Given the description of an element on the screen output the (x, y) to click on. 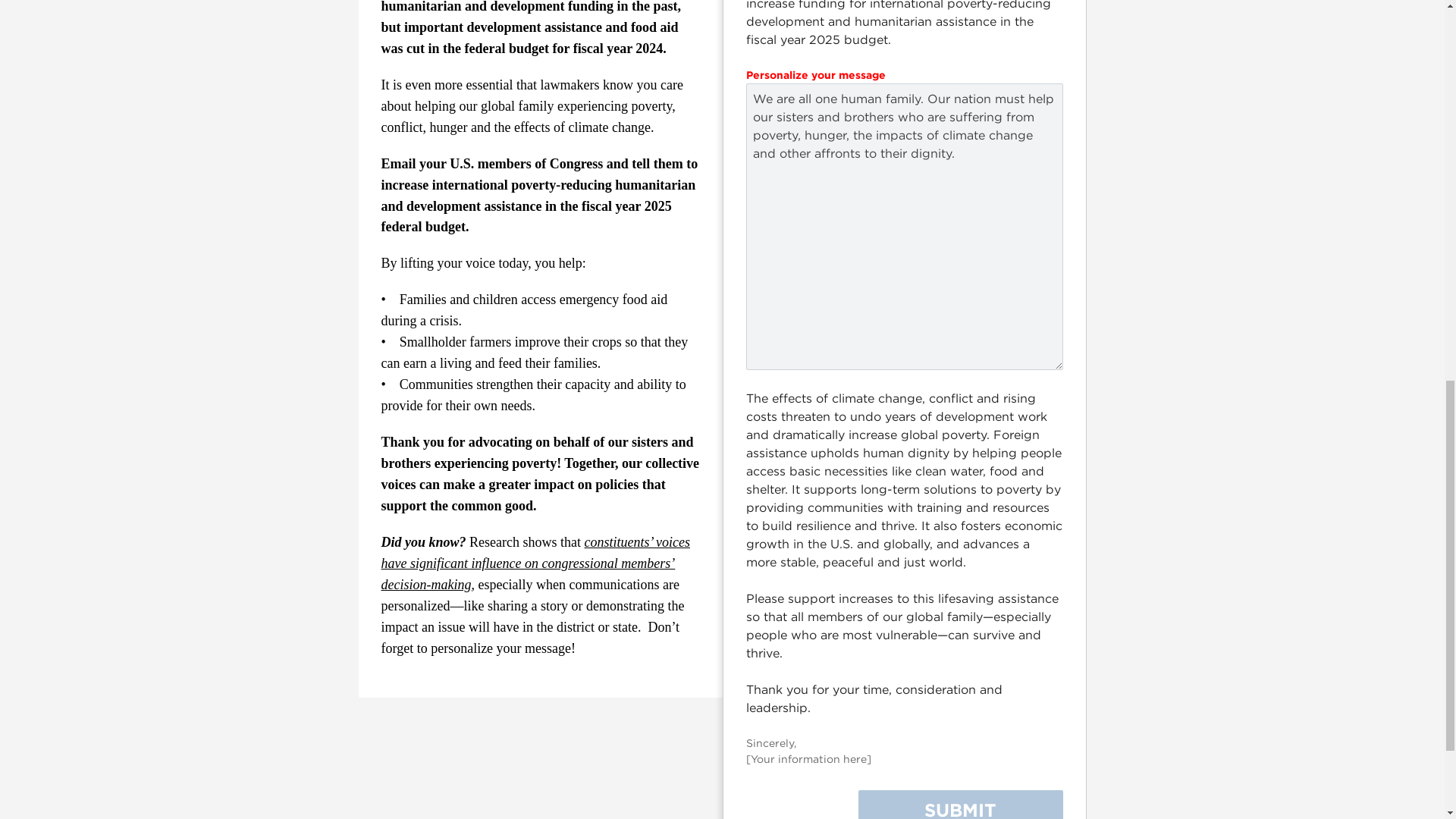
Submit (960, 804)
Submit (960, 804)
